Given the description of an element on the screen output the (x, y) to click on. 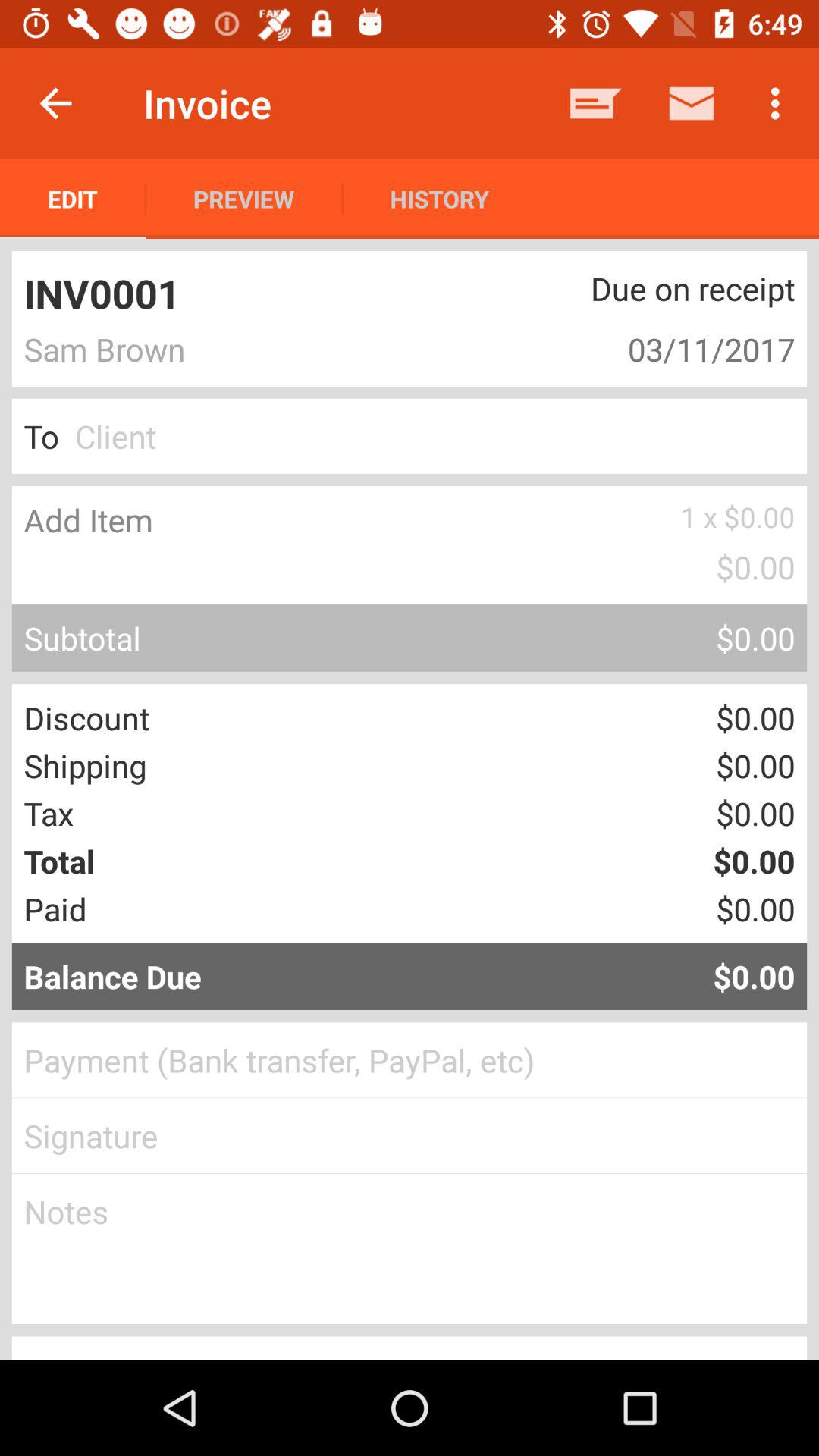
swipe until the edit (72, 198)
